Given the description of an element on the screen output the (x, y) to click on. 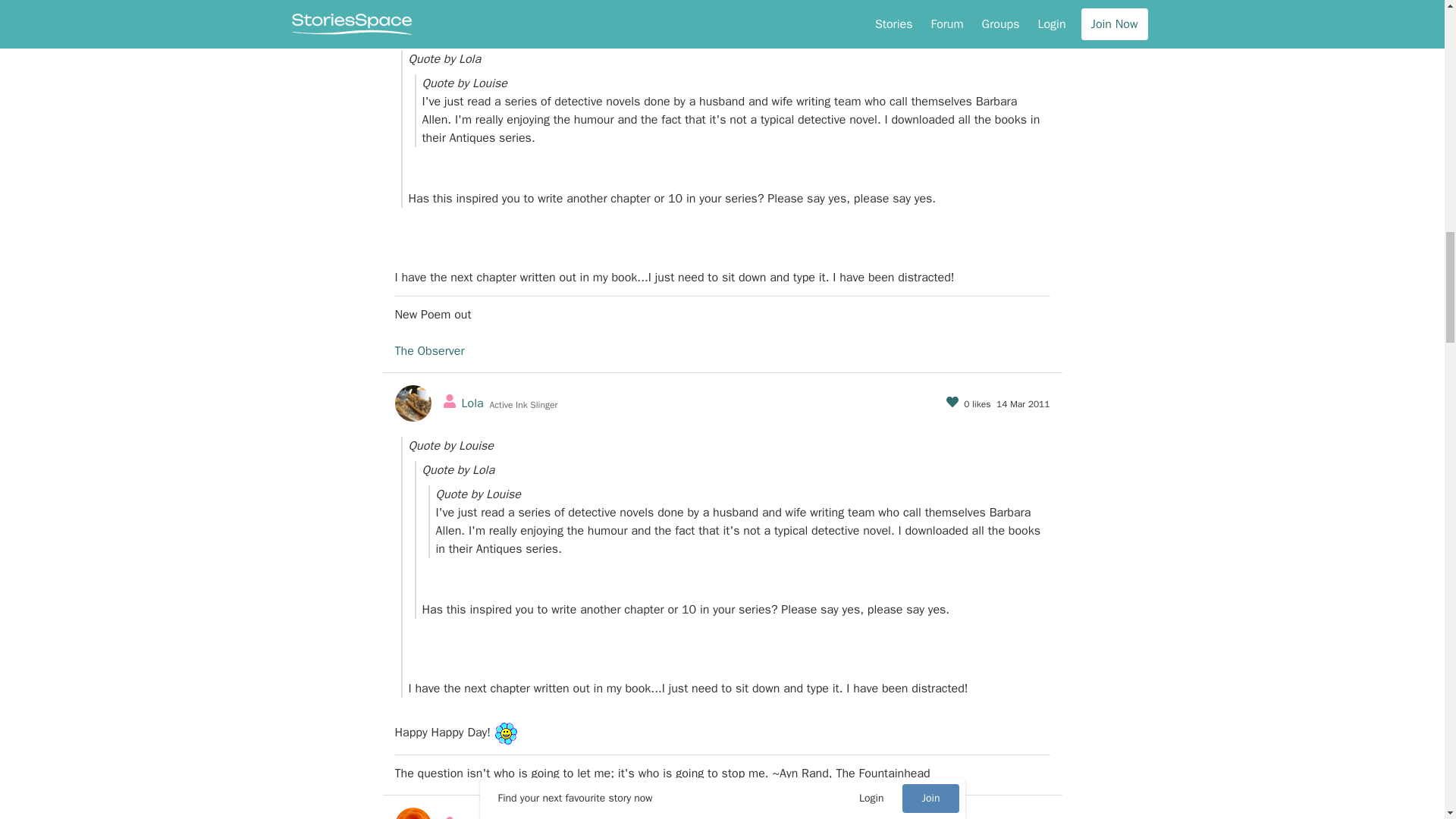
ladysharon (489, 818)
Lola (472, 403)
Louise (478, 16)
flower (506, 733)
The Observer (429, 350)
